Given the description of an element on the screen output the (x, y) to click on. 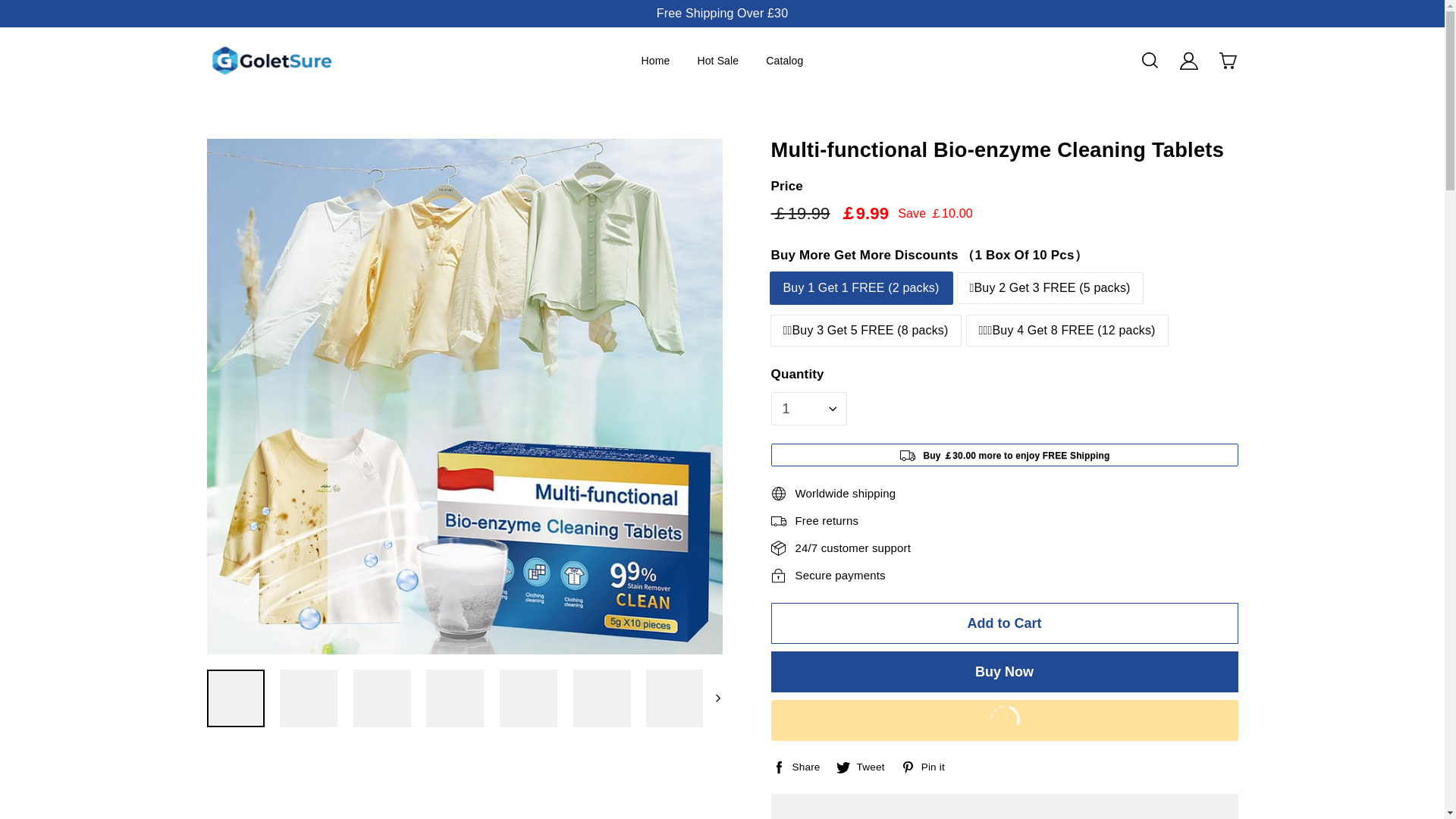
Add to Cart (1003, 622)
Catalog (784, 60)
Hot Sale (717, 60)
